Given the description of an element on the screen output the (x, y) to click on. 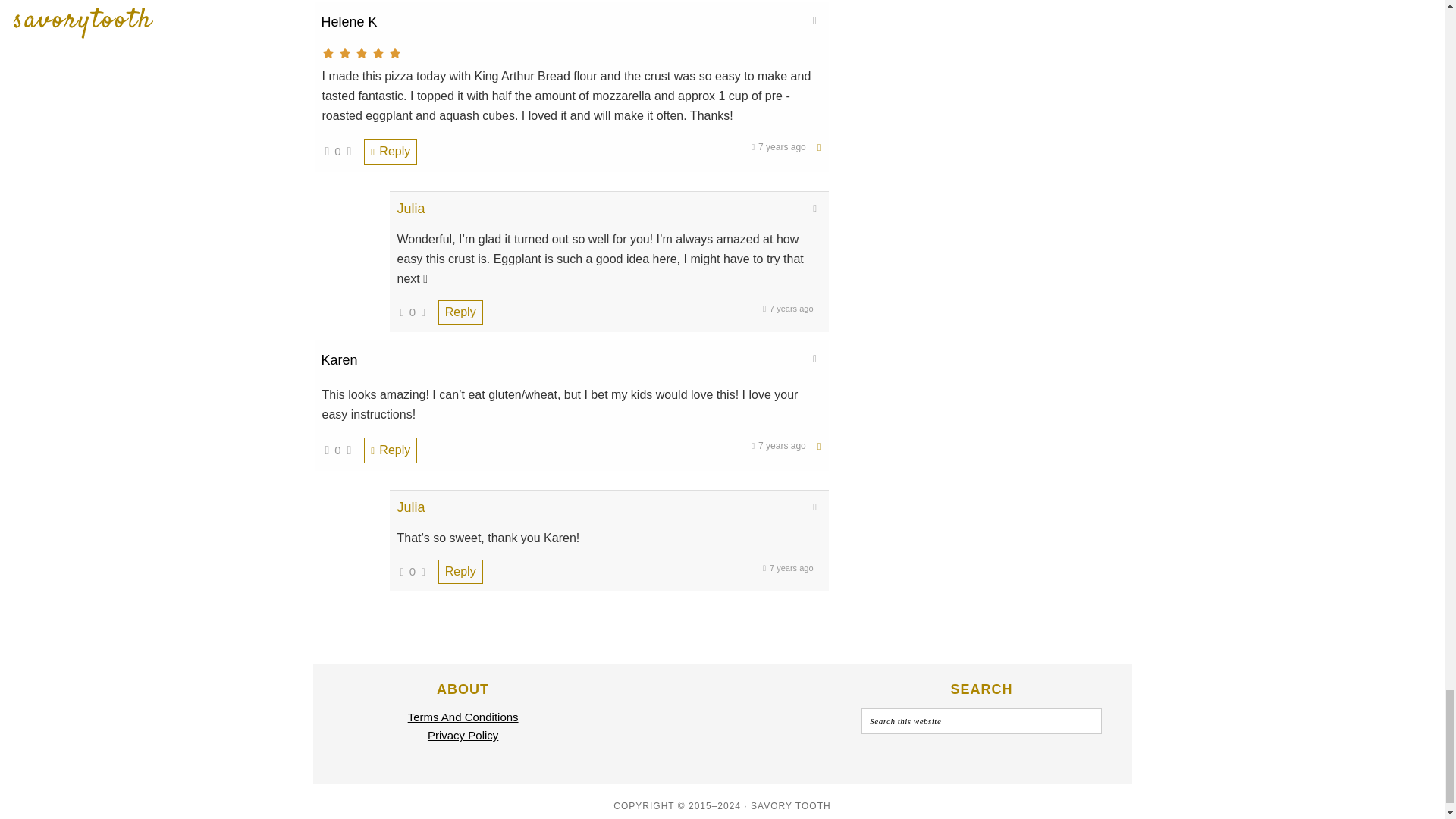
Reply (390, 151)
